Given the description of an element on the screen output the (x, y) to click on. 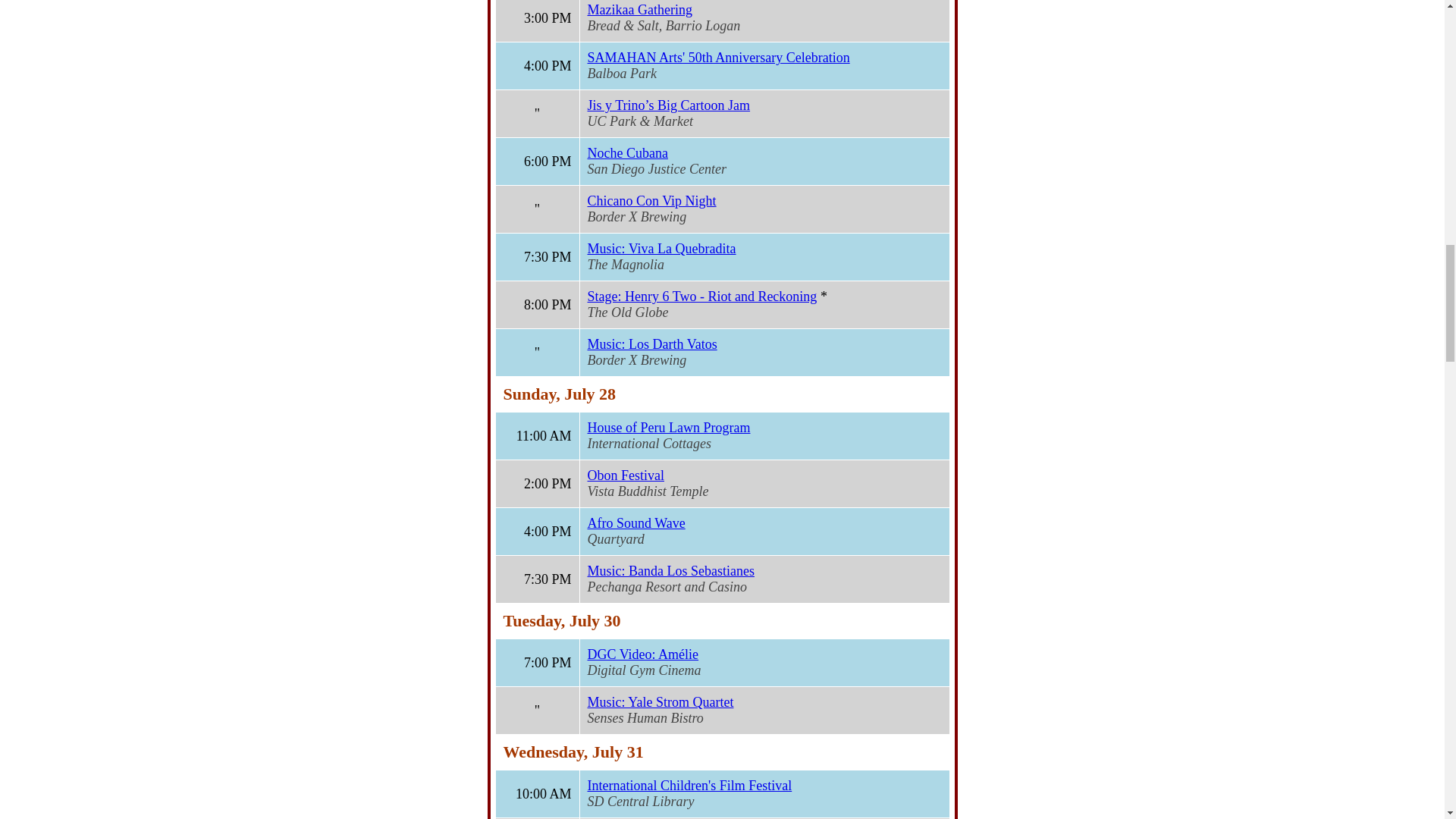
Afro Sound Wave (635, 522)
House of Peru Lawn Program (667, 427)
Stage: Henry 6 Two - Riot and Reckoning (701, 296)
Obon Festival (624, 475)
Mazikaa Gathering (638, 9)
Music: Banda Los Sebastianes (670, 570)
Music: Los Darth Vatos (651, 344)
SAMAHAN Arts' 50th Anniversary Celebration (717, 57)
Chicano Con Vip Night (651, 200)
International Children's Film Festival (689, 785)
Noche Cubana (626, 152)
Music: Viva La Quebradita (660, 248)
Music: Yale Strom Quartet (659, 702)
